Given the description of an element on the screen output the (x, y) to click on. 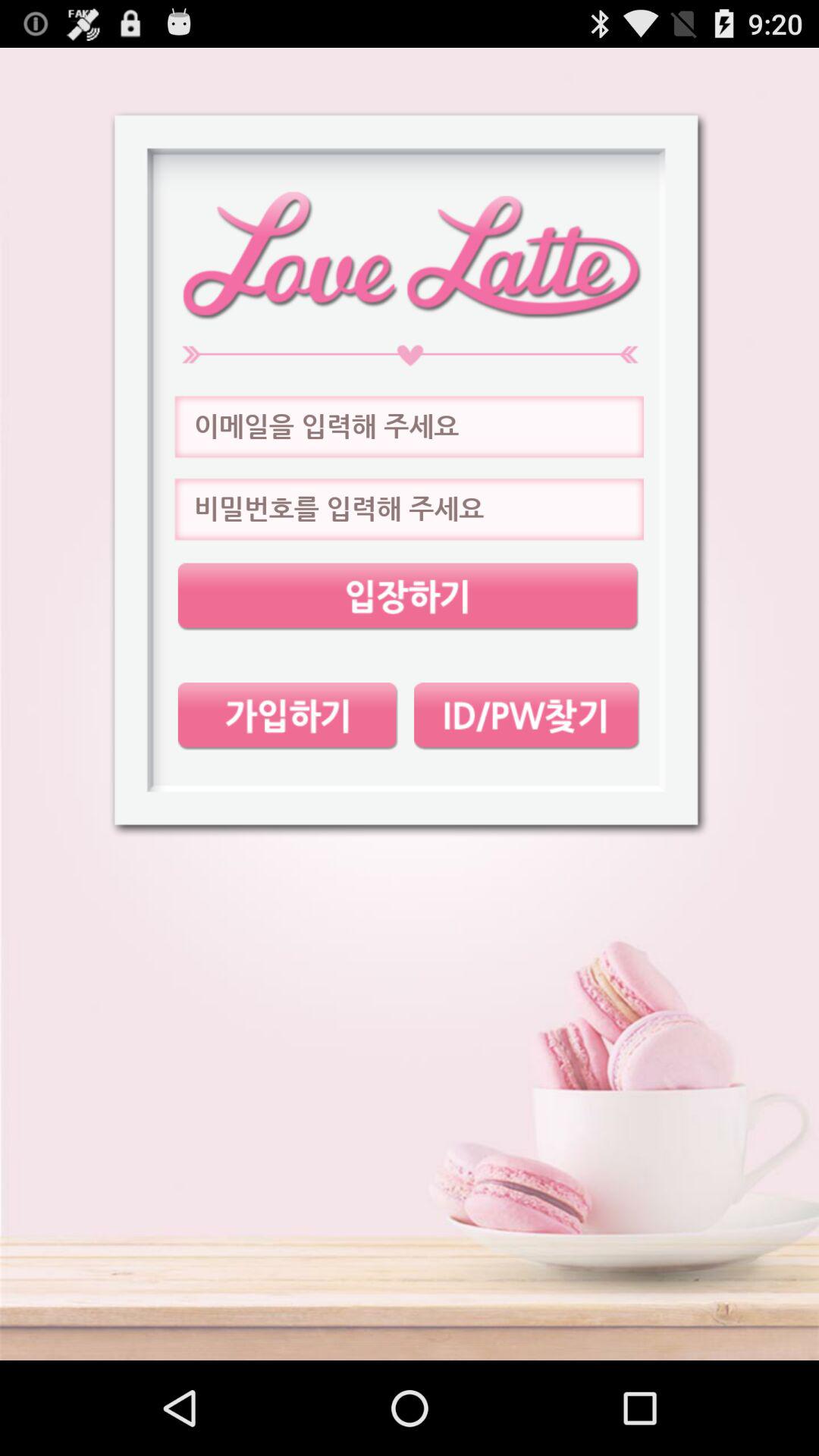
important to know (408, 596)
